Given the description of an element on the screen output the (x, y) to click on. 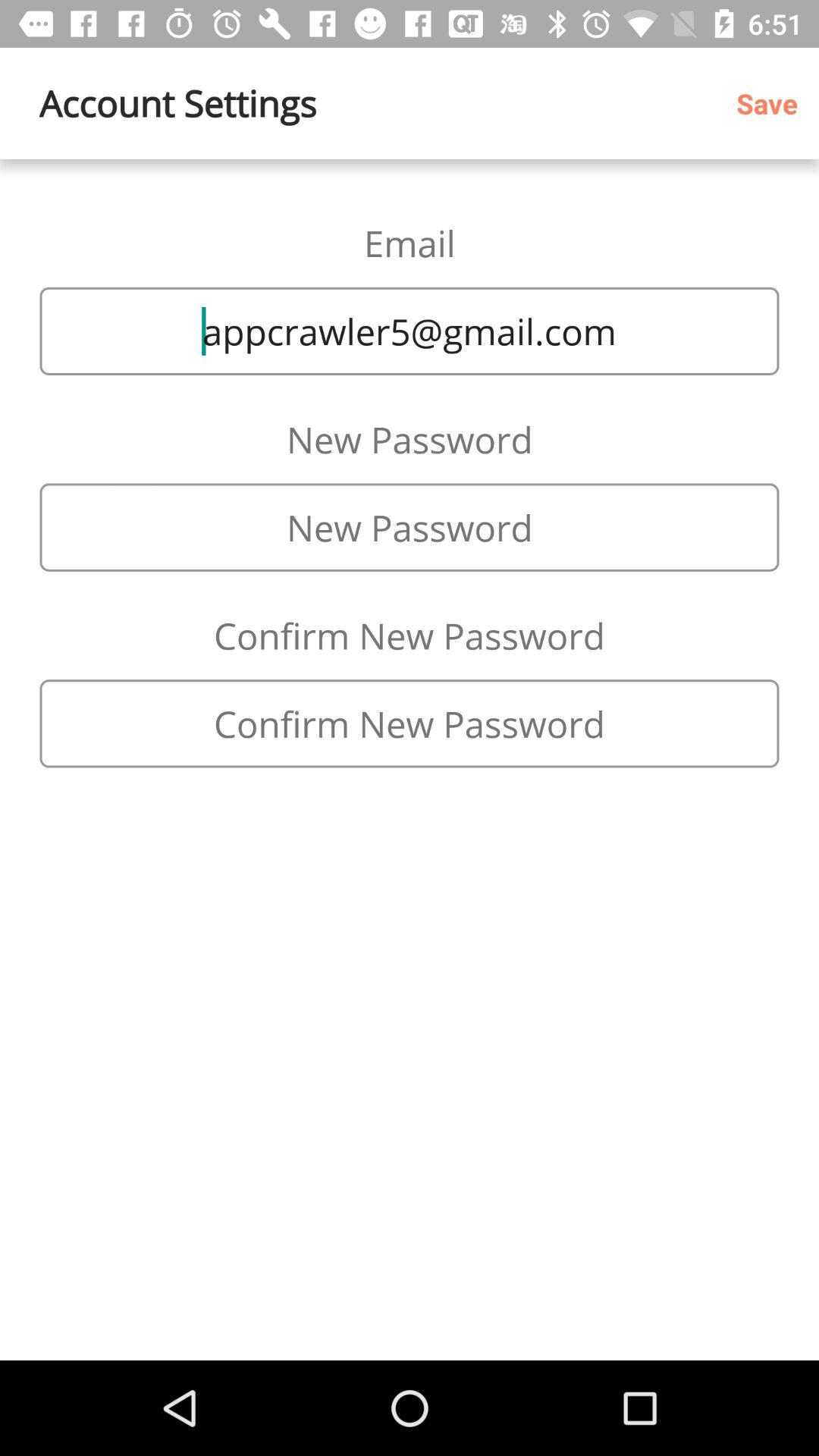
press save item (772, 103)
